Given the description of an element on the screen output the (x, y) to click on. 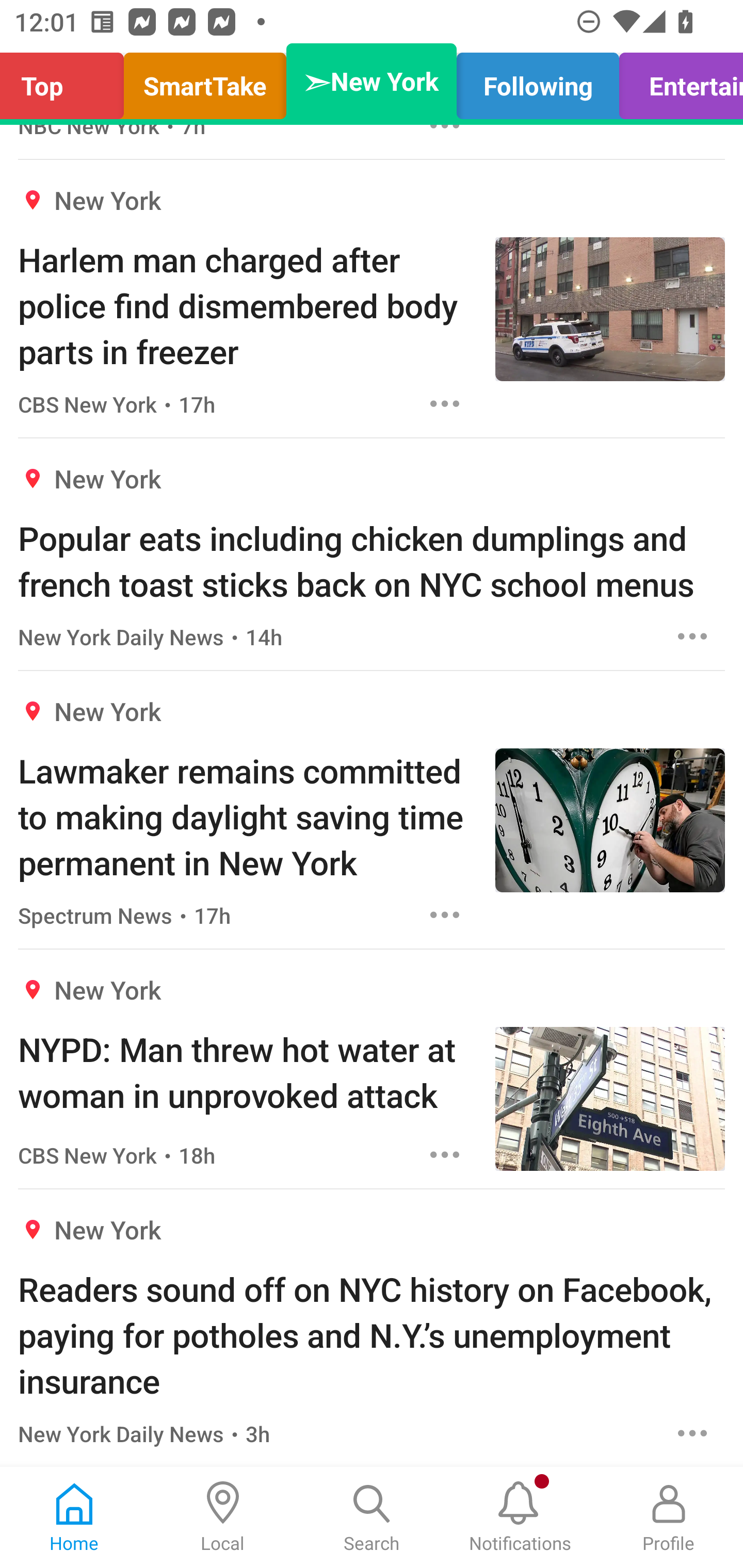
Top (67, 81)
SmartTake (204, 81)
➣New York (371, 81)
Following (537, 81)
Options (444, 403)
Options (692, 636)
Options (444, 914)
Options (444, 1154)
Options (692, 1433)
Local (222, 1517)
Search (371, 1517)
Notifications, New notification Notifications (519, 1517)
Profile (668, 1517)
